Given the description of an element on the screen output the (x, y) to click on. 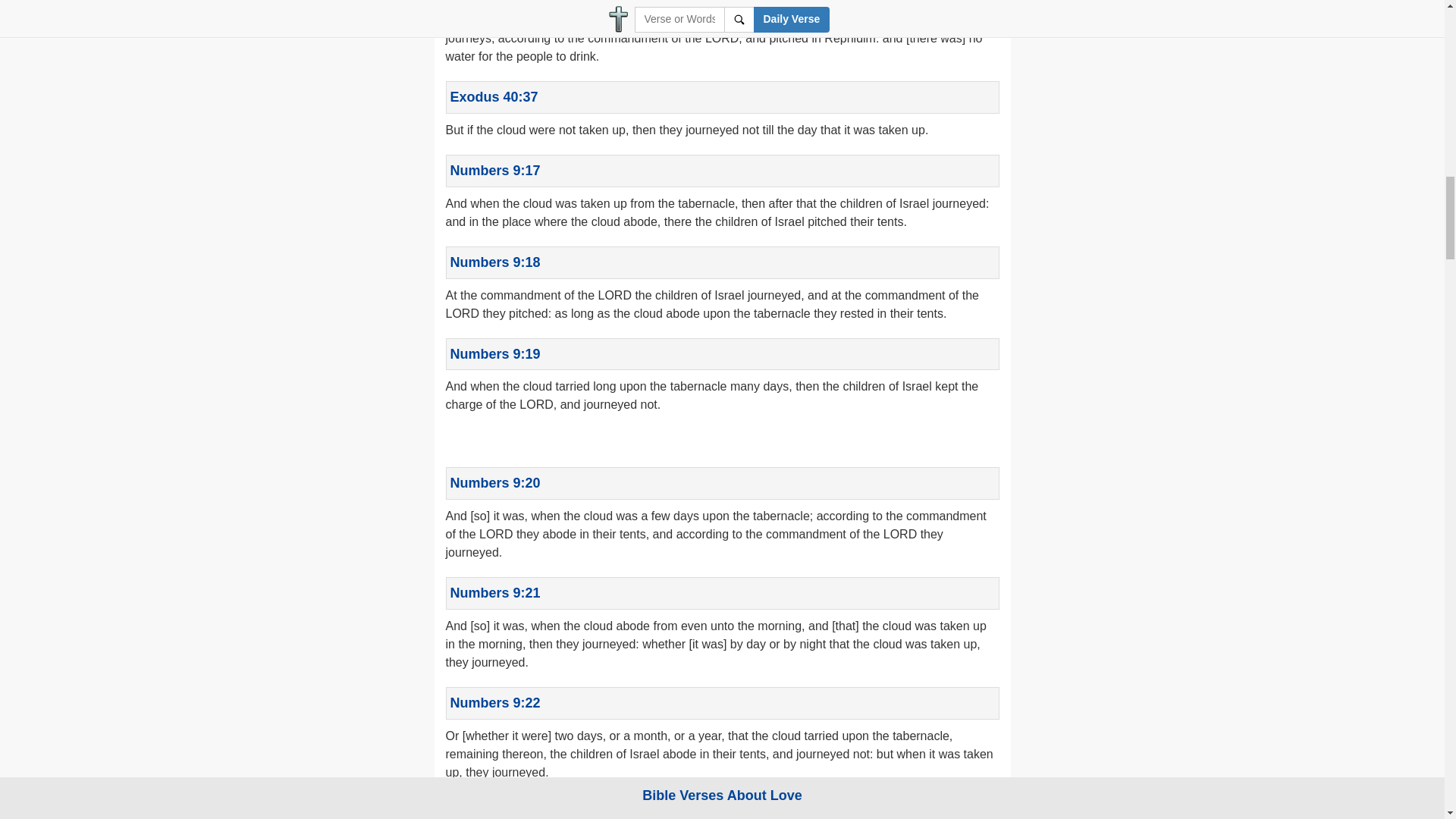
Numbers 9:22 (494, 702)
Numbers 9:21 (494, 592)
Numbers 9:17 (494, 170)
Numbers 9:20 (494, 482)
Numbers 9:23 (494, 812)
Exodus 40:37 (493, 96)
Numbers 9:18 (494, 262)
Numbers 9:19 (494, 353)
